Given the description of an element on the screen output the (x, y) to click on. 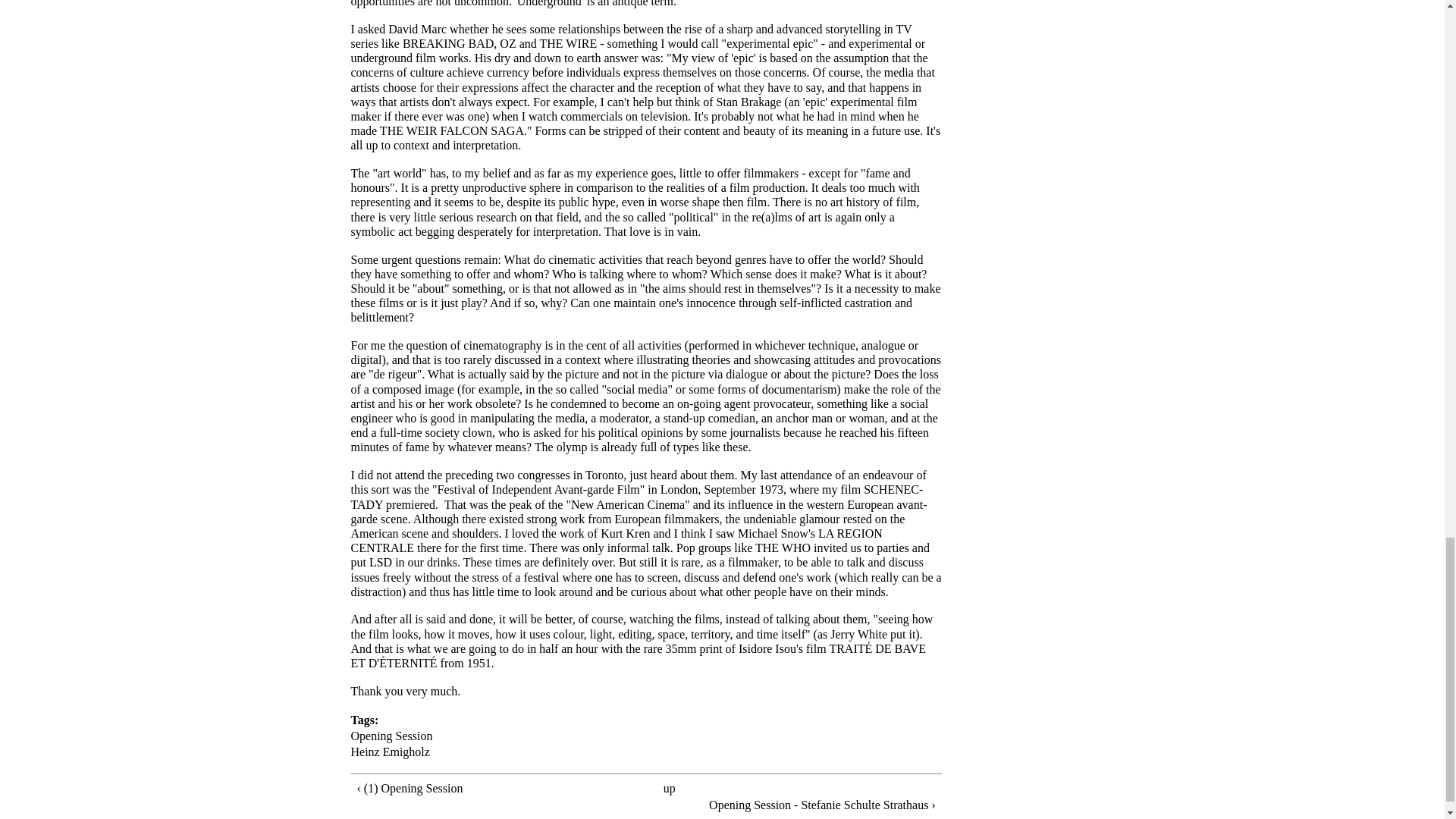
Opening Session (391, 735)
Zur vorherigen Seite (477, 788)
Heinz Emigholz (389, 751)
up (669, 788)
